Given the description of an element on the screen output the (x, y) to click on. 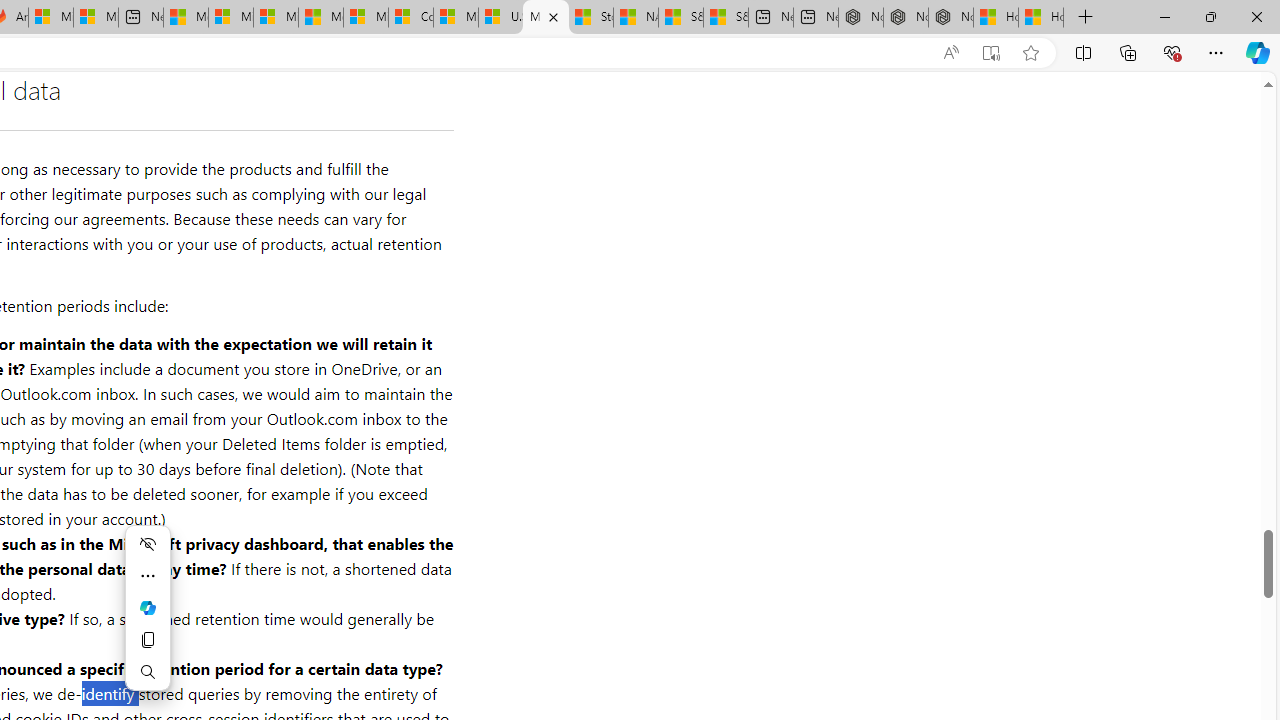
Copy (147, 639)
How to Use a Monitor With Your Closed Laptop (1040, 17)
Enter Immersive Reader (F9) (991, 53)
S&P 500, Nasdaq end lower, weighed by Nvidia dip | Watch (725, 17)
More actions (147, 575)
Microsoft account | Home (275, 17)
